Given the description of an element on the screen output the (x, y) to click on. 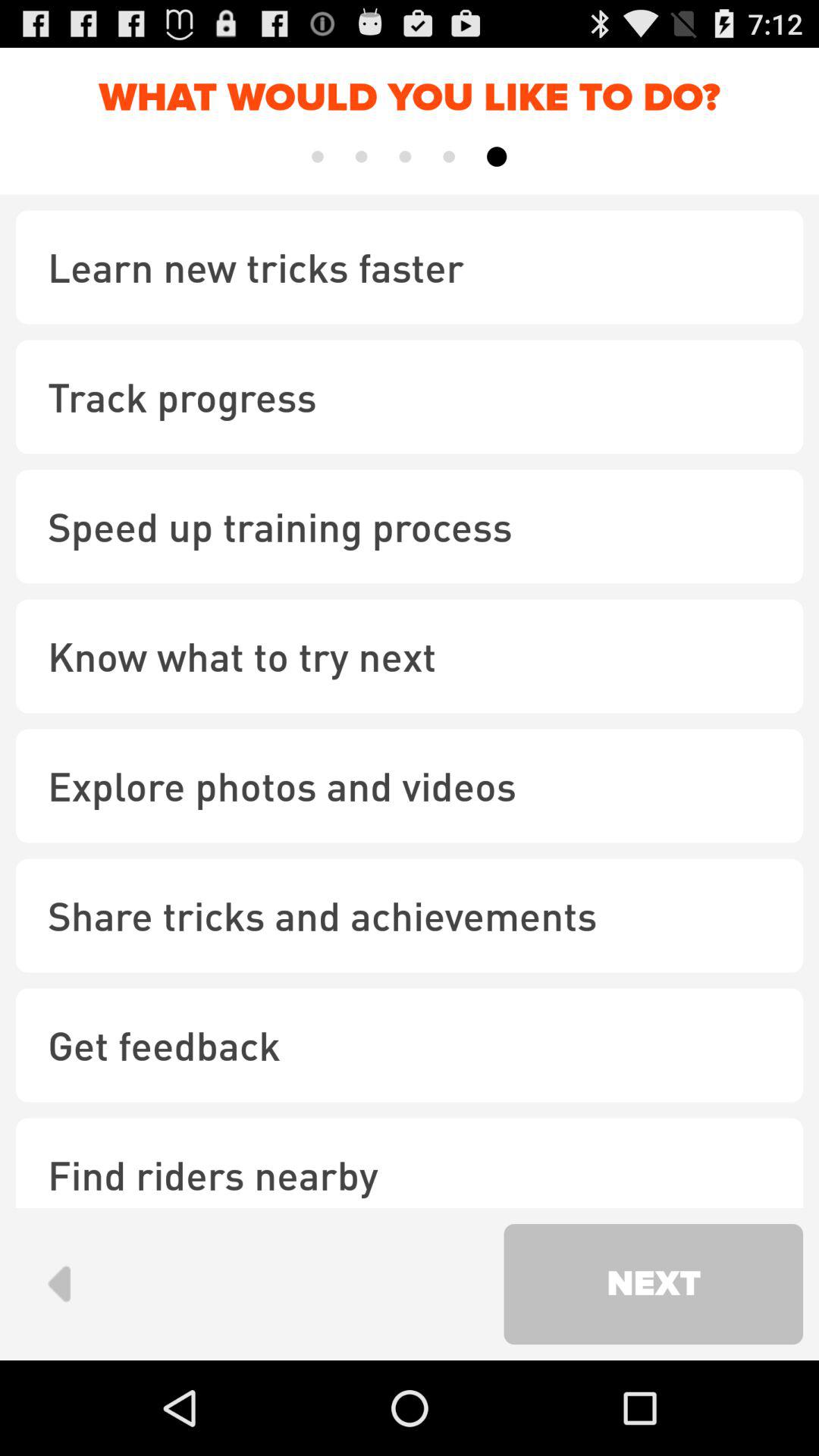
select icon above next icon (409, 1163)
